Given the description of an element on the screen output the (x, y) to click on. 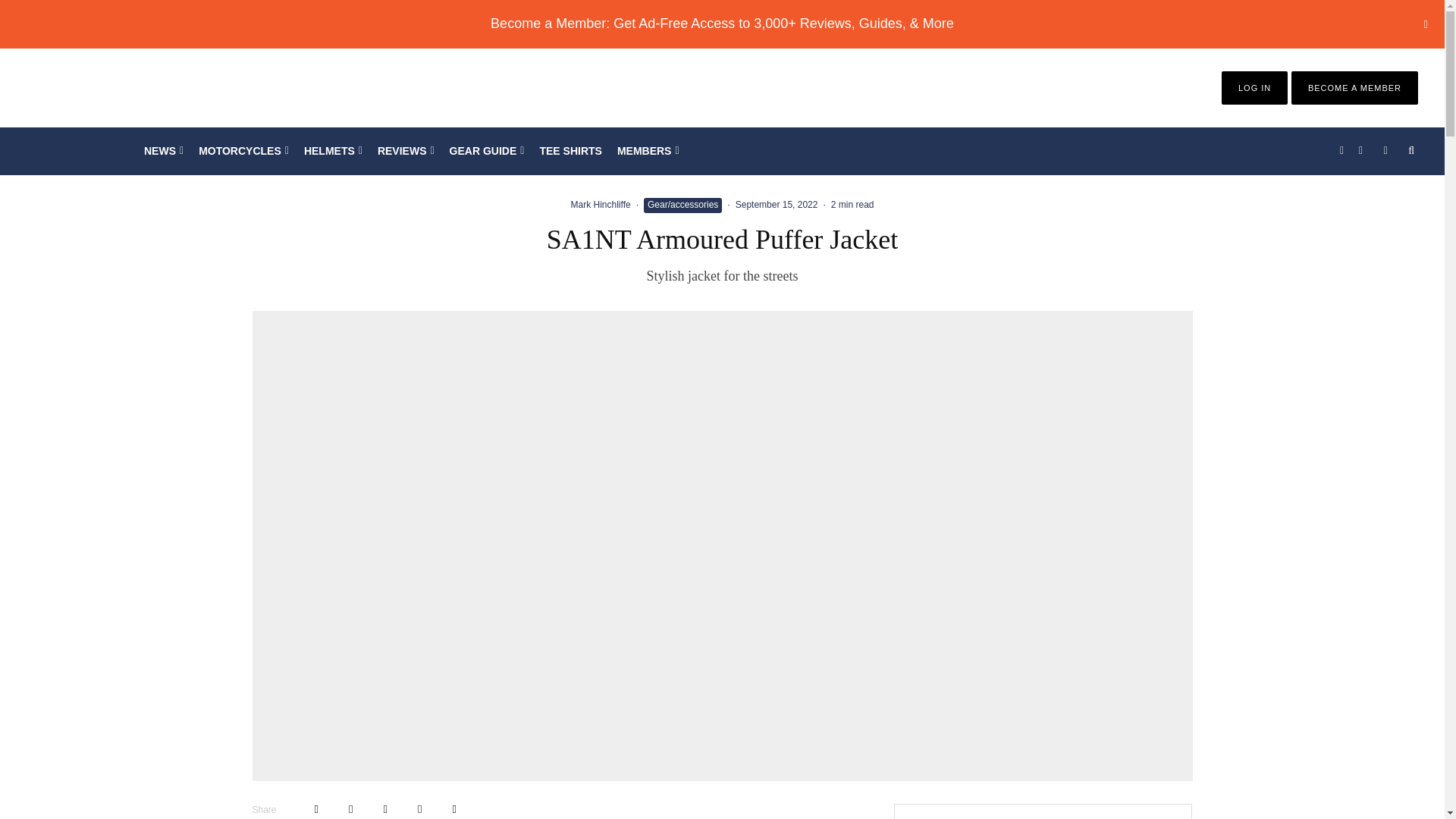
NEWS (163, 150)
LOG IN (1255, 87)
BECOME A MEMBER (1353, 87)
MOTORCYCLES (243, 150)
